Given the description of an element on the screen output the (x, y) to click on. 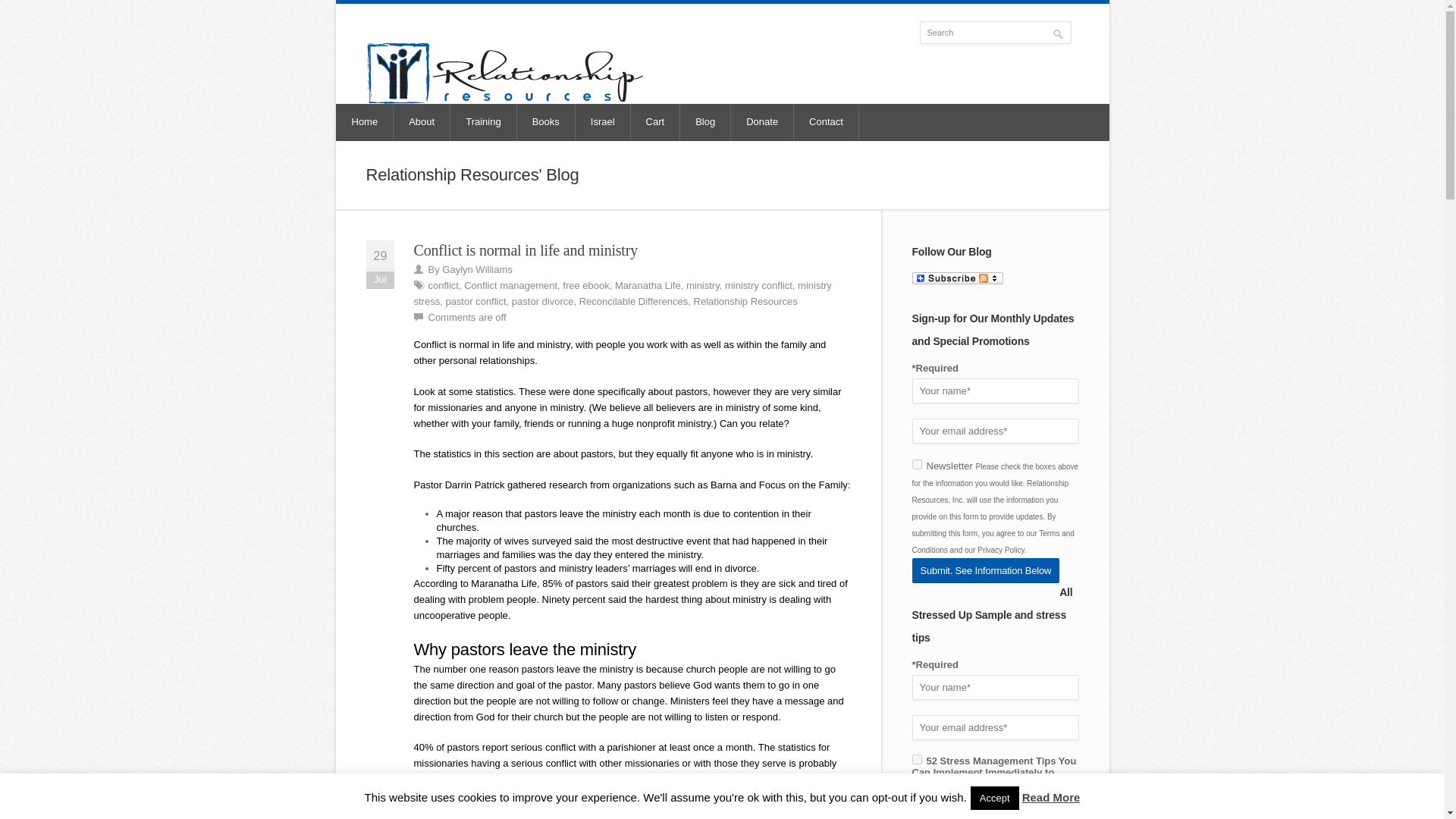
Contact (826, 122)
Gaylyn Williams (477, 269)
Maranatha Life (647, 285)
Home (365, 122)
ministry (702, 285)
Donate (761, 122)
Submit. See Information Below (985, 570)
ministry conflict (758, 285)
Relationship Resources (745, 301)
Search (994, 32)
8d6161d877 (916, 464)
Reconcilable Differences (537, 808)
Conflict management (510, 285)
pastor conflict (475, 301)
About (421, 122)
